Given the description of an element on the screen output the (x, y) to click on. 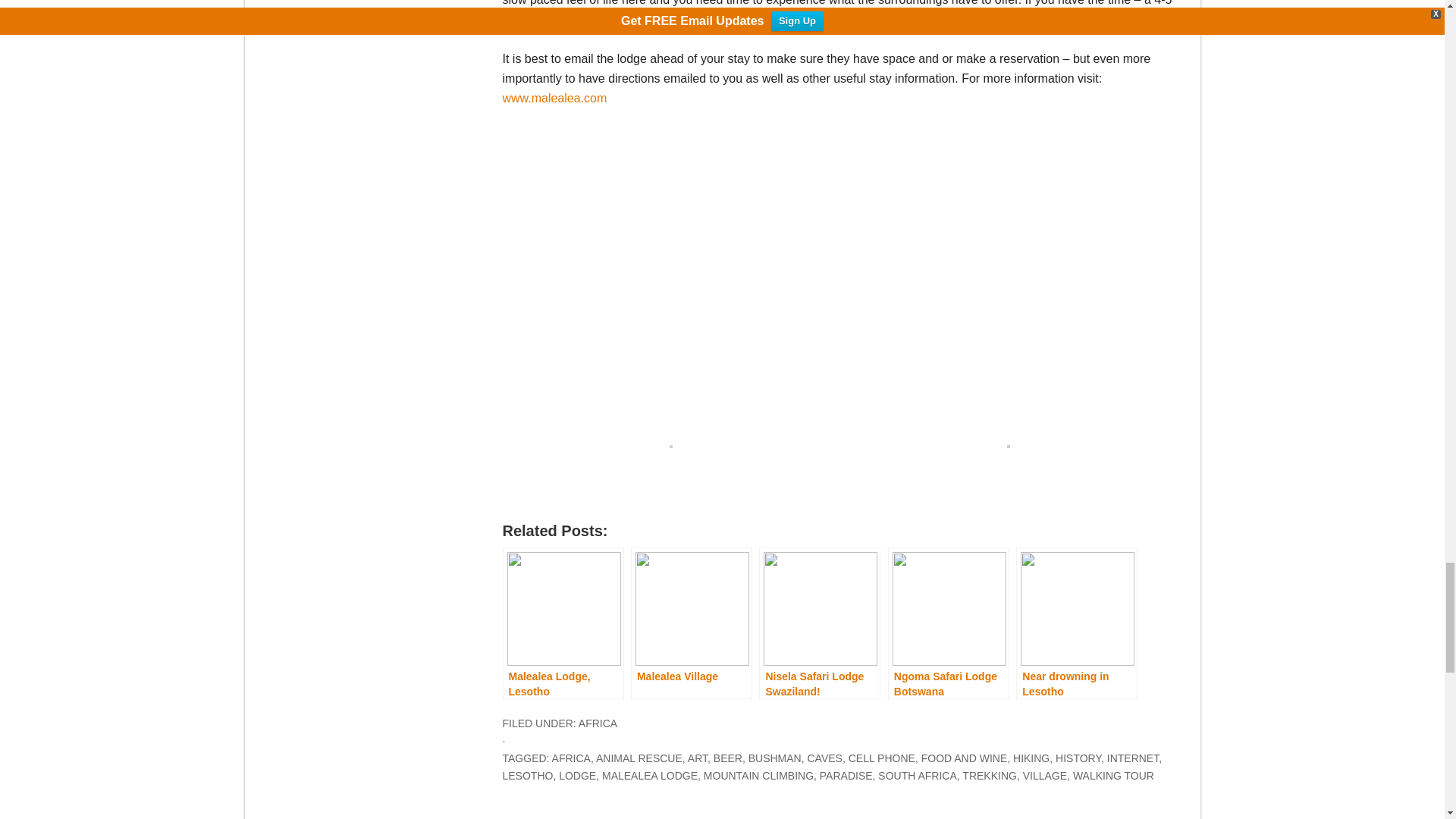
Malealea Village (691, 623)
Ngoma Safari Lodge Botswana (948, 623)
Malealea Lodge, Lesotho (562, 623)
Near drowning in Lesotho (1076, 623)
Malealea Village (691, 623)
Malealea Lodge, Lesotho (562, 623)
www.malealea.com (554, 97)
Nisela Safari Lodge Swaziland! (819, 623)
Nisela Safari Lodge Swaziland! (819, 623)
